Given the description of an element on the screen output the (x, y) to click on. 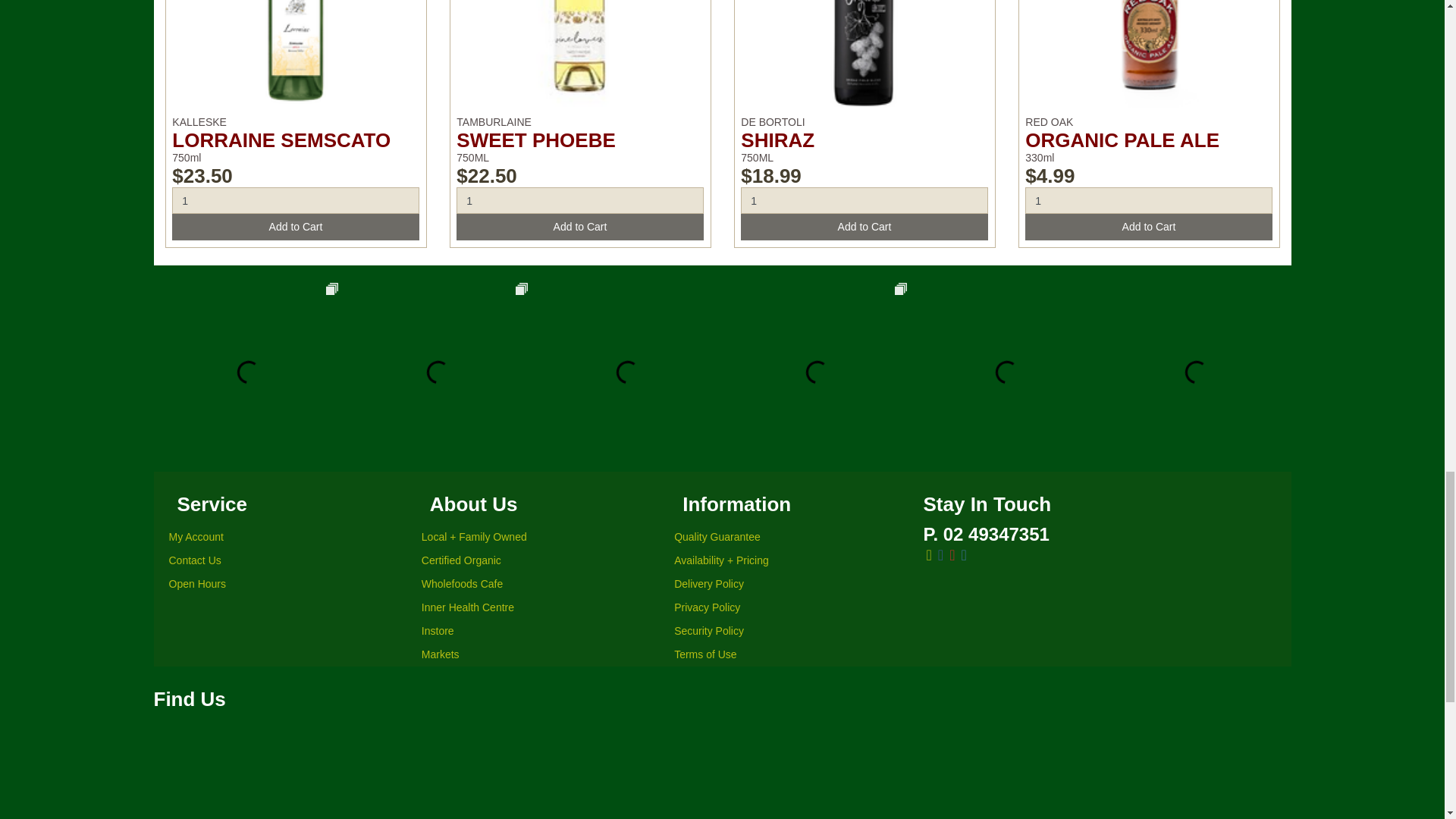
Add SWEET PHOEBE to Cart (580, 226)
Add SHIRAZ to Cart (864, 226)
Add ORGANIC PALE ALE to Cart (1148, 226)
1 (1148, 200)
Email us (928, 555)
Organic Feast on Instagram (963, 555)
1 (295, 200)
Organic Feast on Youtube (952, 555)
Organic Feast on Facebook (940, 555)
Add LORRAINE SEMSCATO to Cart (295, 226)
1 (580, 200)
1 (864, 200)
